Given the description of an element on the screen output the (x, y) to click on. 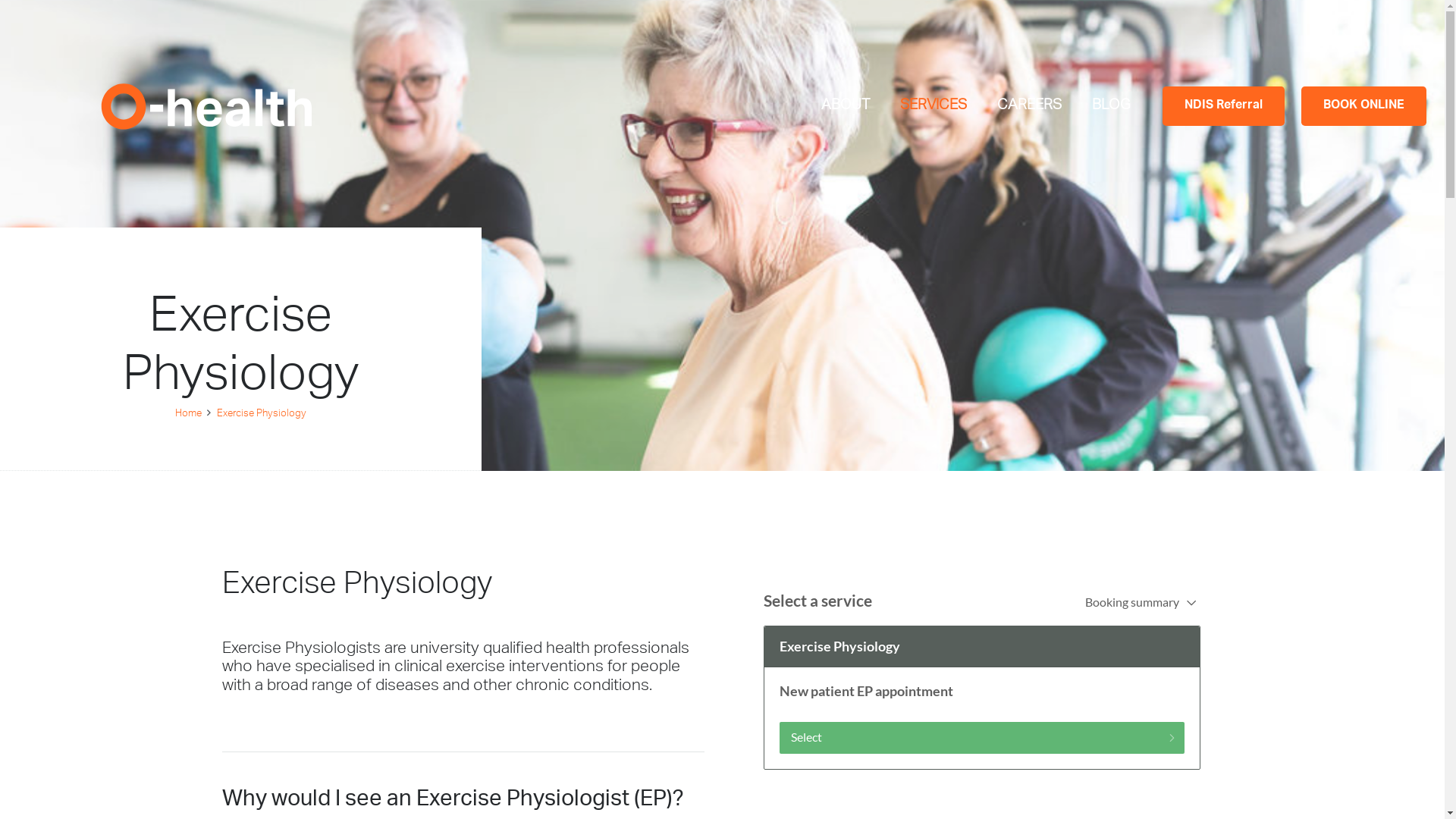
BLOG Element type: text (1110, 105)
NDIS Referral Element type: text (1223, 105)
Exercise Physiology Element type: text (261, 414)
CAREERS Element type: text (1029, 105)
BOOK ONLINE Element type: text (1363, 105)
SERVICES Element type: text (933, 105)
ABOUT Element type: text (845, 105)
Home Element type: text (188, 414)
